Given the description of an element on the screen output the (x, y) to click on. 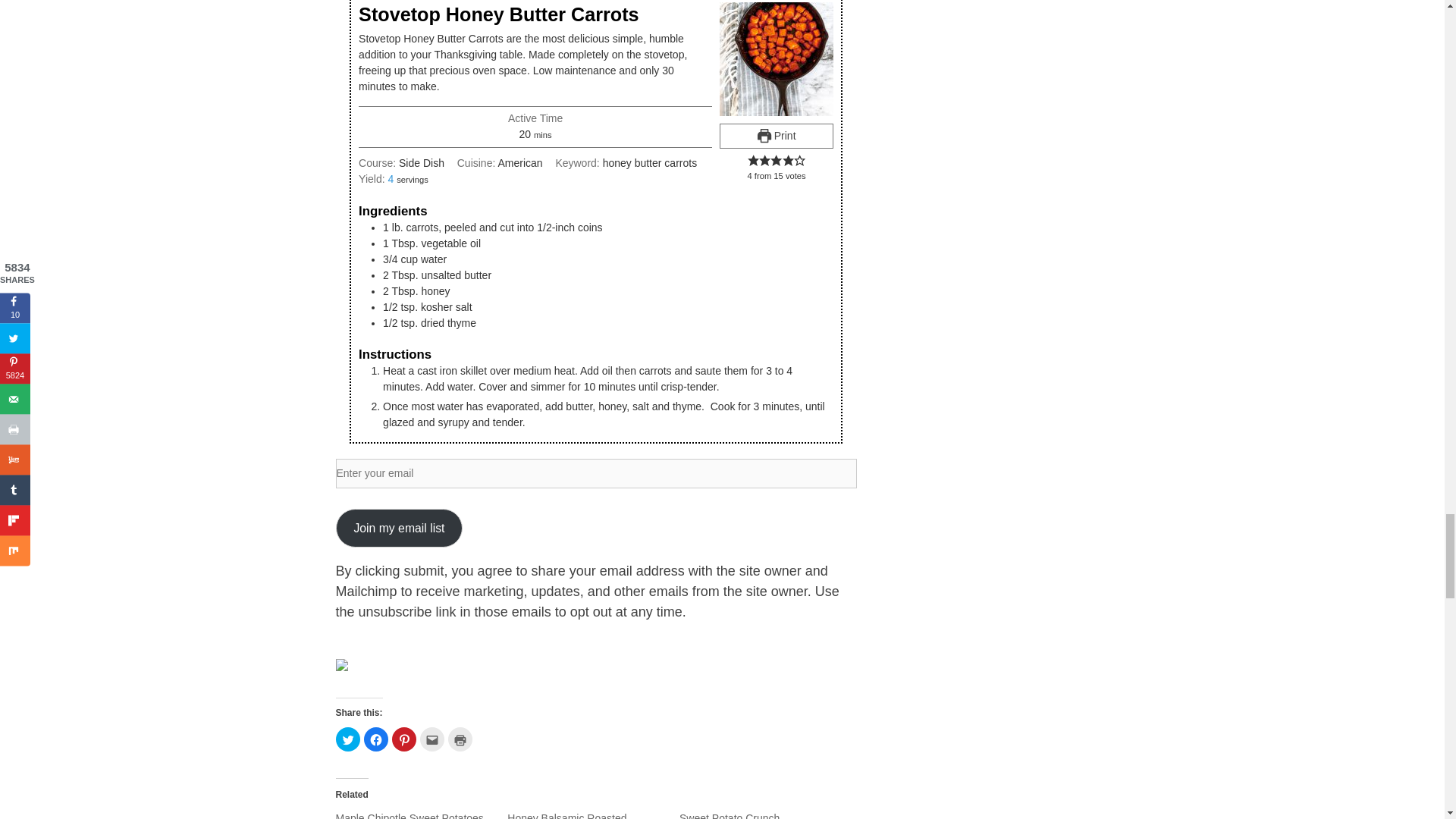
Click to share on Twitter (346, 739)
Enter your email (595, 473)
Click to print (458, 739)
Click to share on Pinterest (402, 739)
Click to email this to a friend (432, 739)
Click to share on Facebook (376, 739)
